Given the description of an element on the screen output the (x, y) to click on. 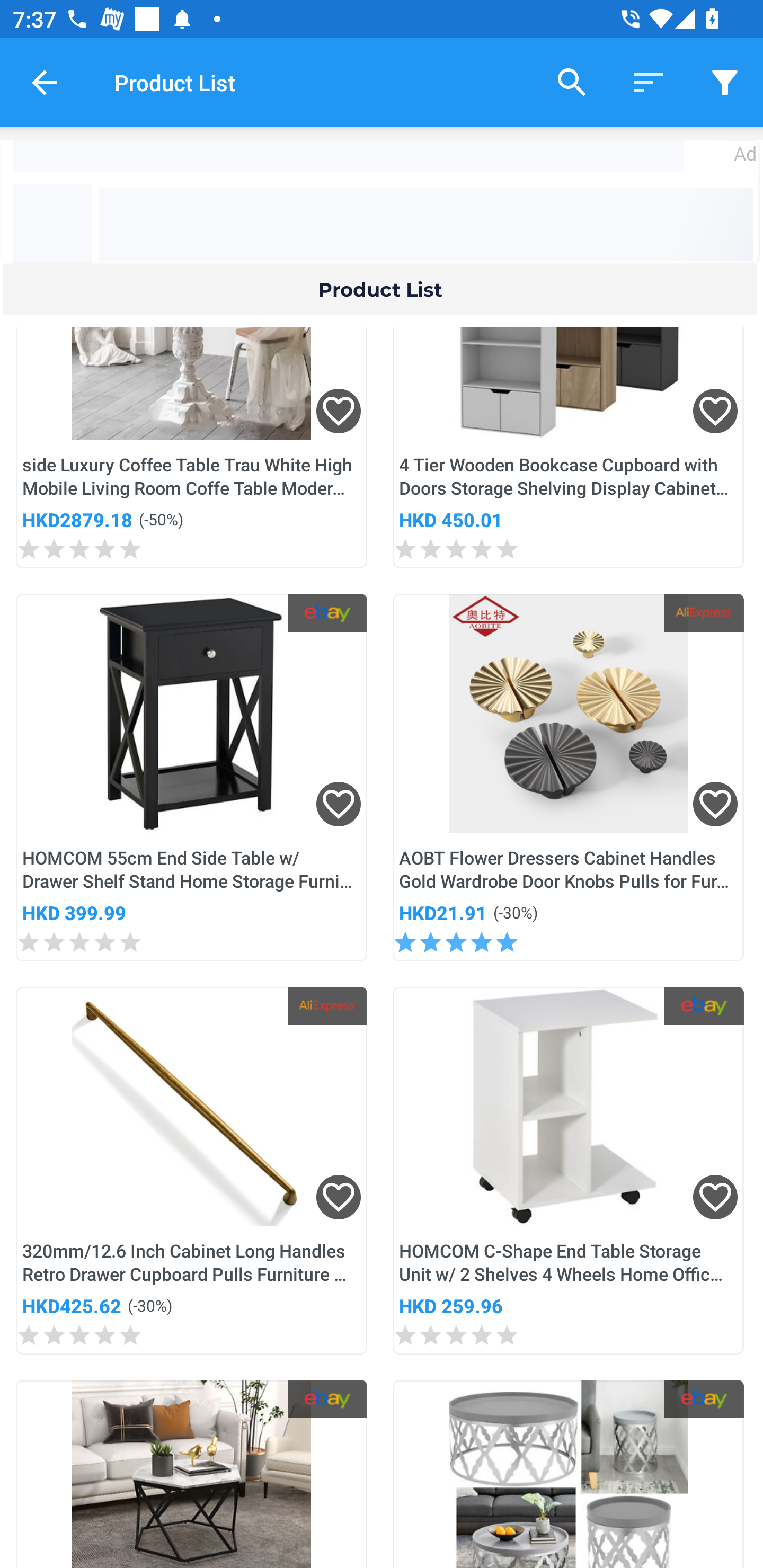
Navigate up (44, 82)
Search (572, 81)
short (648, 81)
short (724, 81)
